Given the description of an element on the screen output the (x, y) to click on. 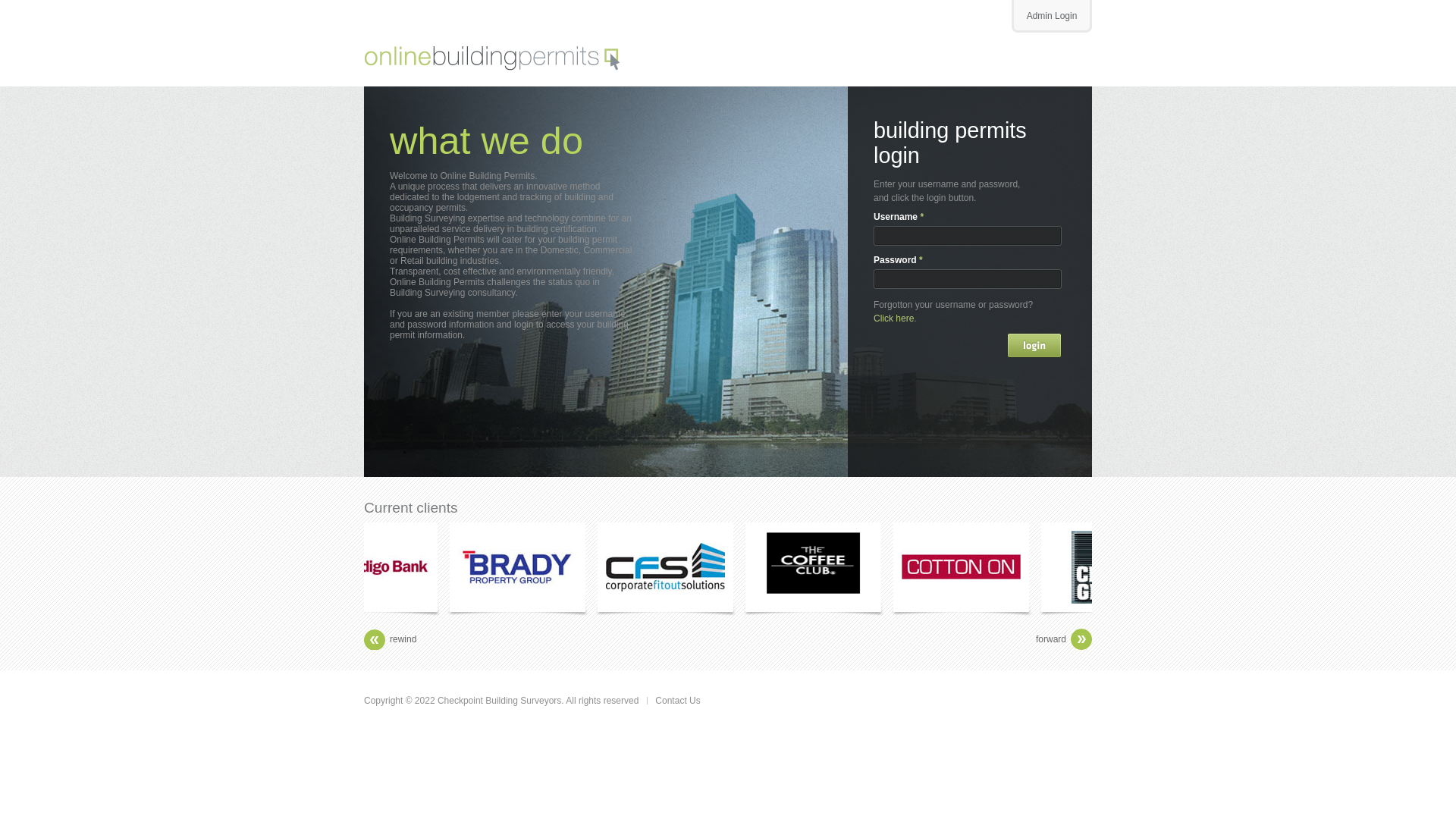
forward Element type: text (1051, 638)
Contact Us Element type: text (677, 700)
Admin Login Element type: text (1051, 16)
Click here Element type: text (893, 318)
rewind Element type: text (403, 638)
